Given the description of an element on the screen output the (x, y) to click on. 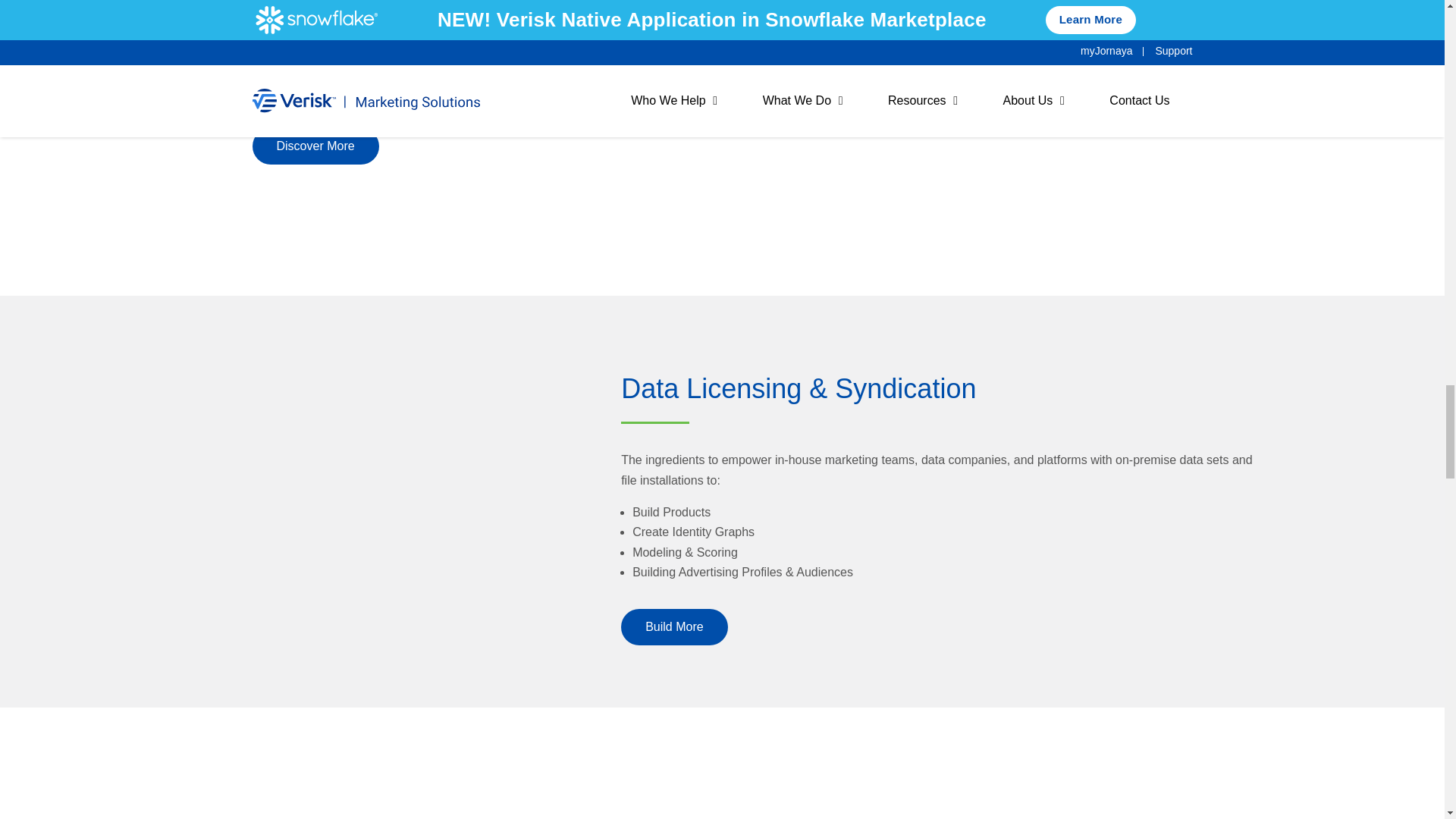
Discover More (314, 145)
Build More (673, 627)
